Given the description of an element on the screen output the (x, y) to click on. 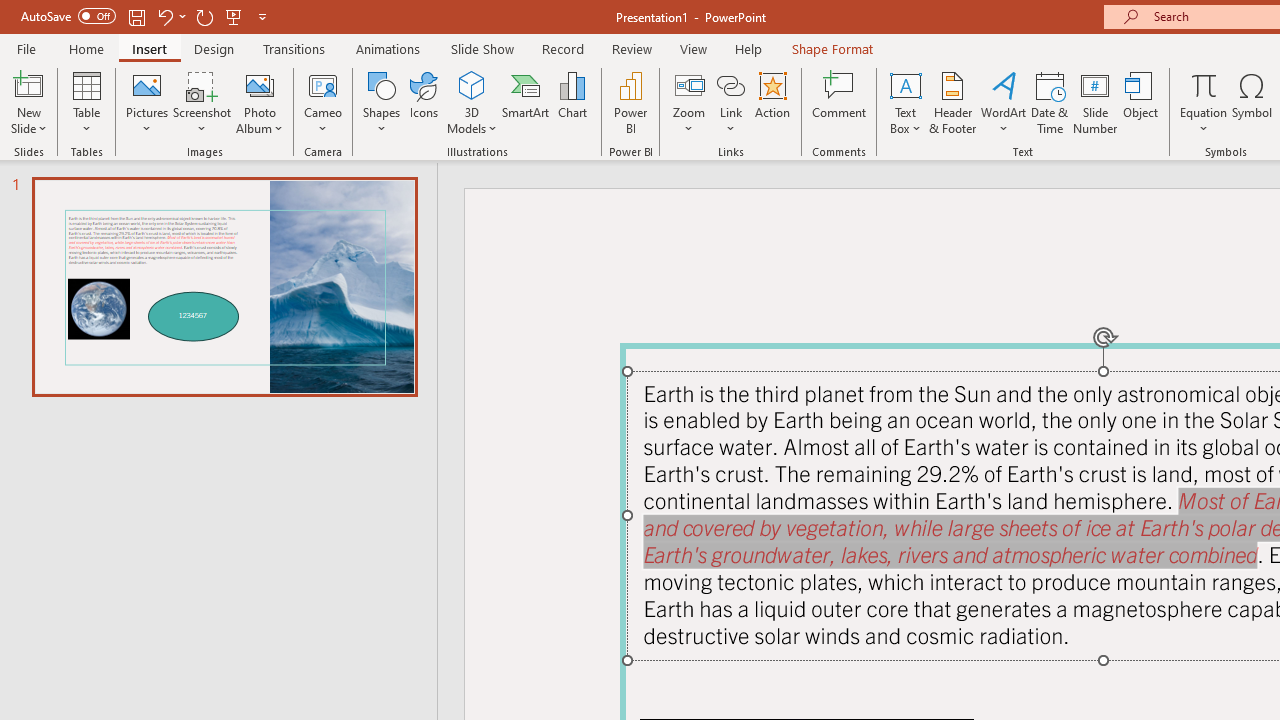
WordArt (1004, 102)
Draw Horizontal Text Box (905, 84)
SmartArt... (525, 102)
